Given the description of an element on the screen output the (x, y) to click on. 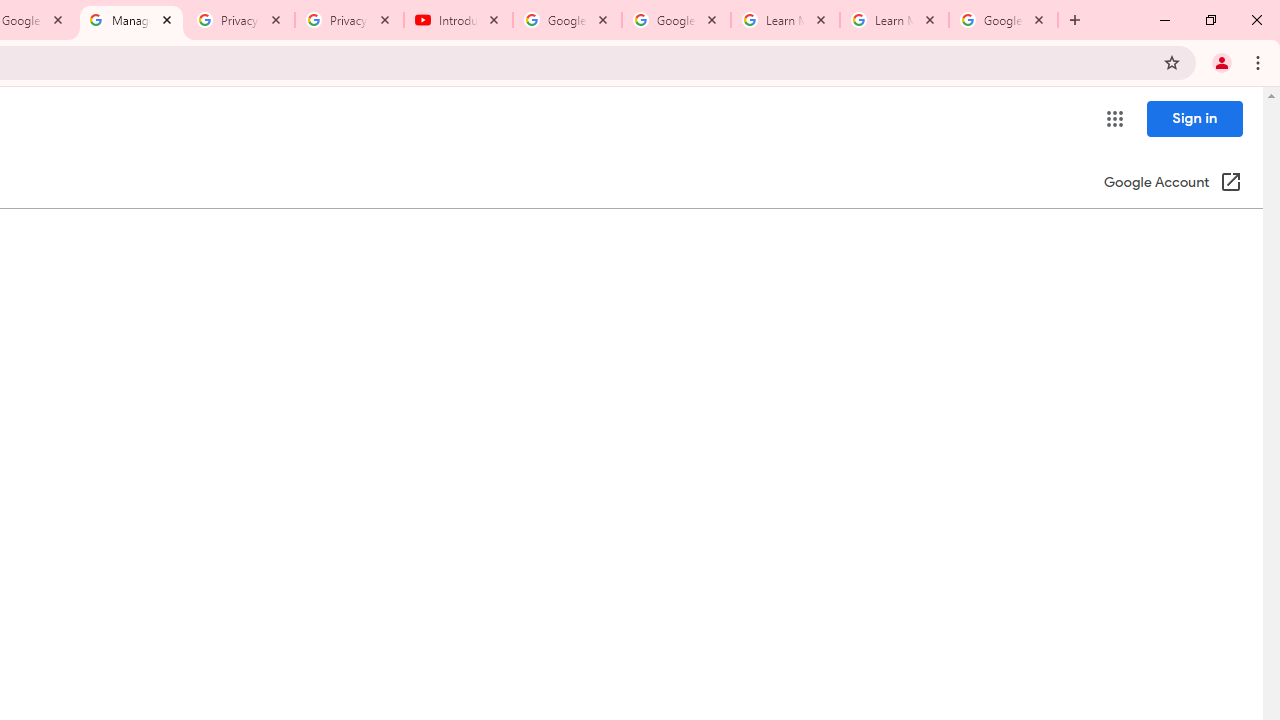
Manage your location settings & data - Google Account Help (130, 20)
